Given the description of an element on the screen output the (x, y) to click on. 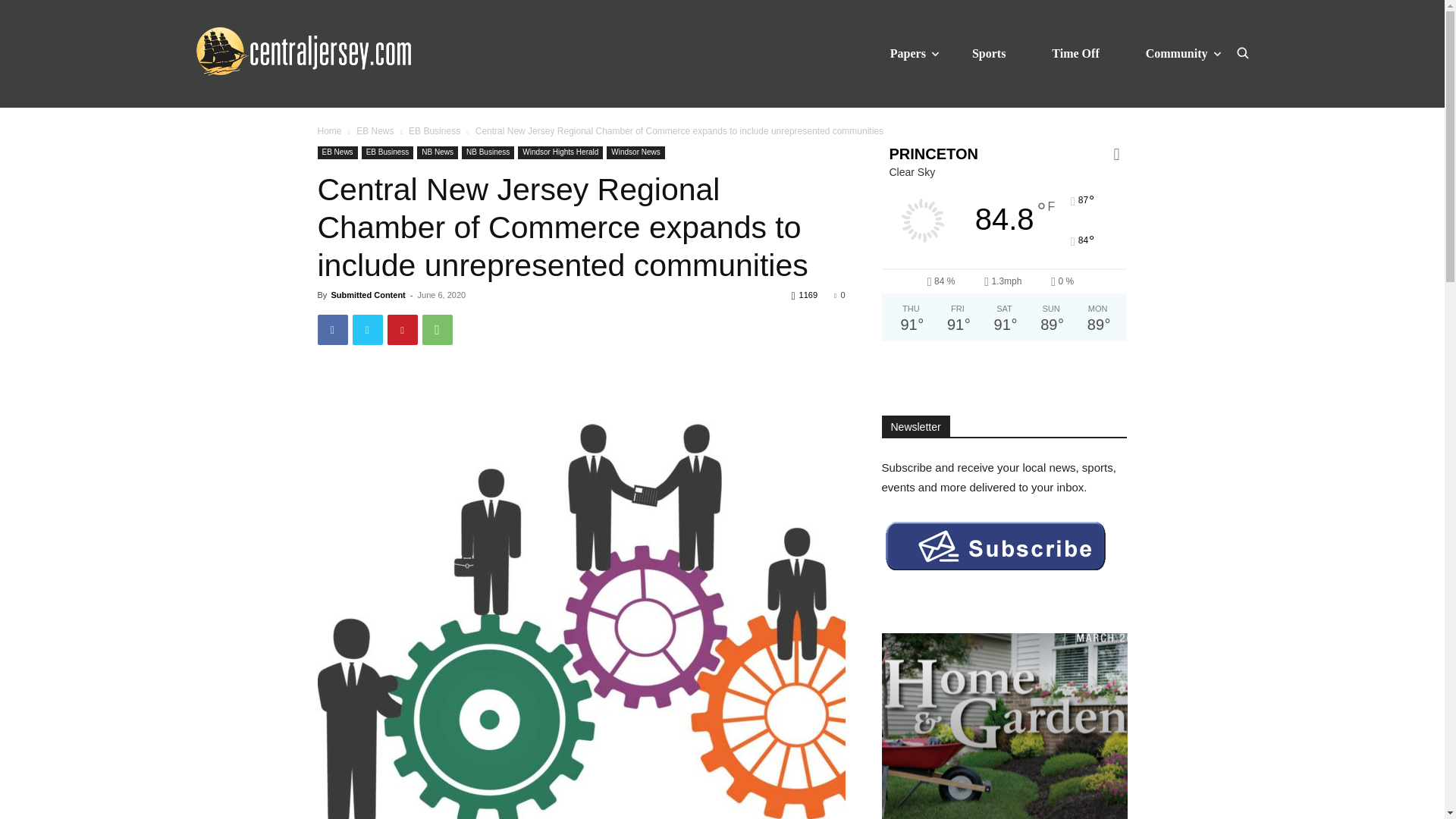
Community (1176, 52)
EB Business (387, 152)
View all posts in EB News (374, 131)
Pinterest (401, 329)
WhatsApp (436, 329)
Twitter (366, 329)
Windsor Hights Herald (560, 152)
Facebook (332, 329)
Sports (989, 52)
Time Off (1075, 52)
View all posts in EB Business (434, 131)
EB News (336, 152)
EB Business (434, 131)
NB Business (487, 152)
